Given the description of an element on the screen output the (x, y) to click on. 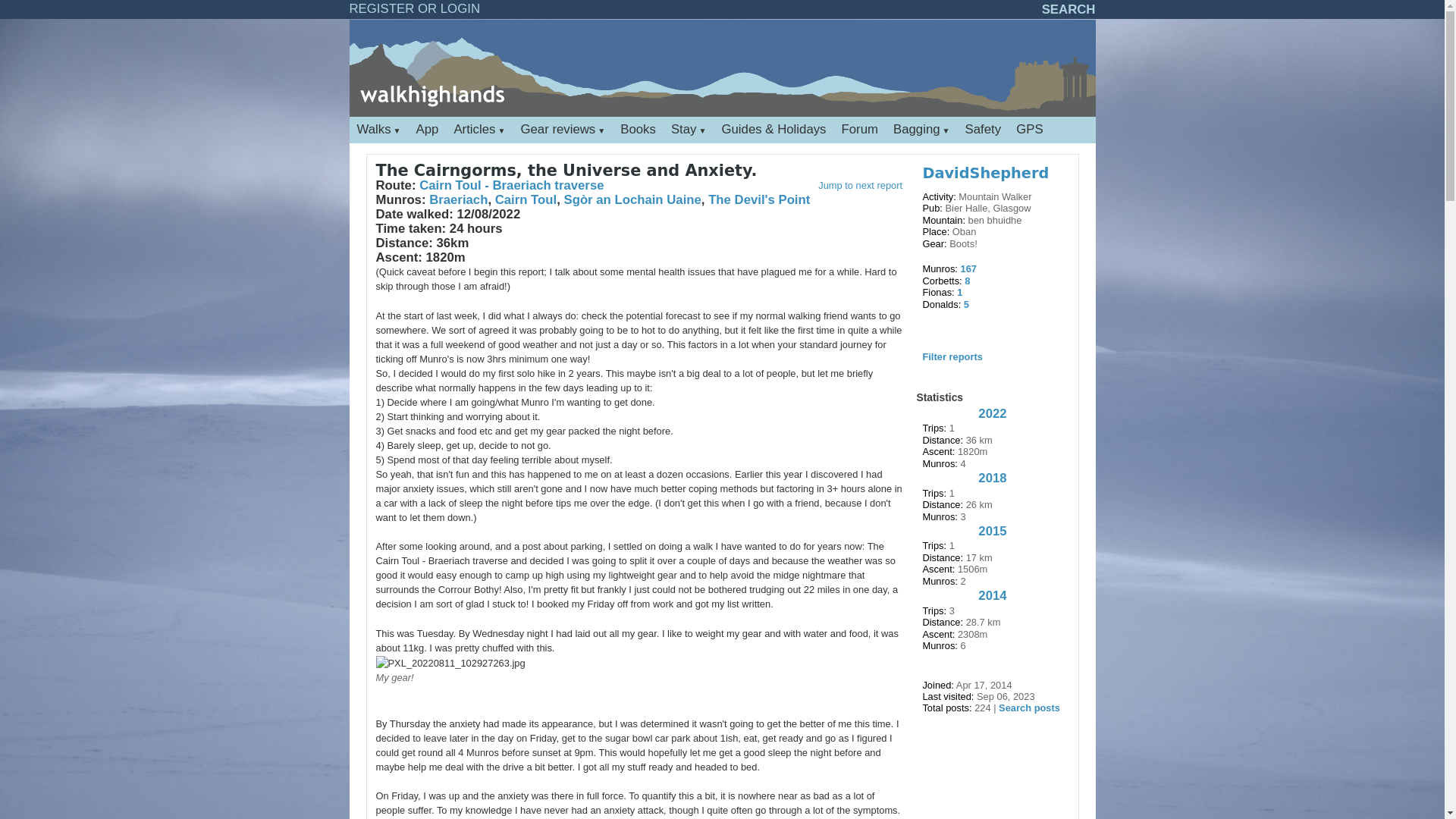
REGISTER OR LOGIN (414, 8)
SEARCH (1069, 9)
